Given the description of an element on the screen output the (x, y) to click on. 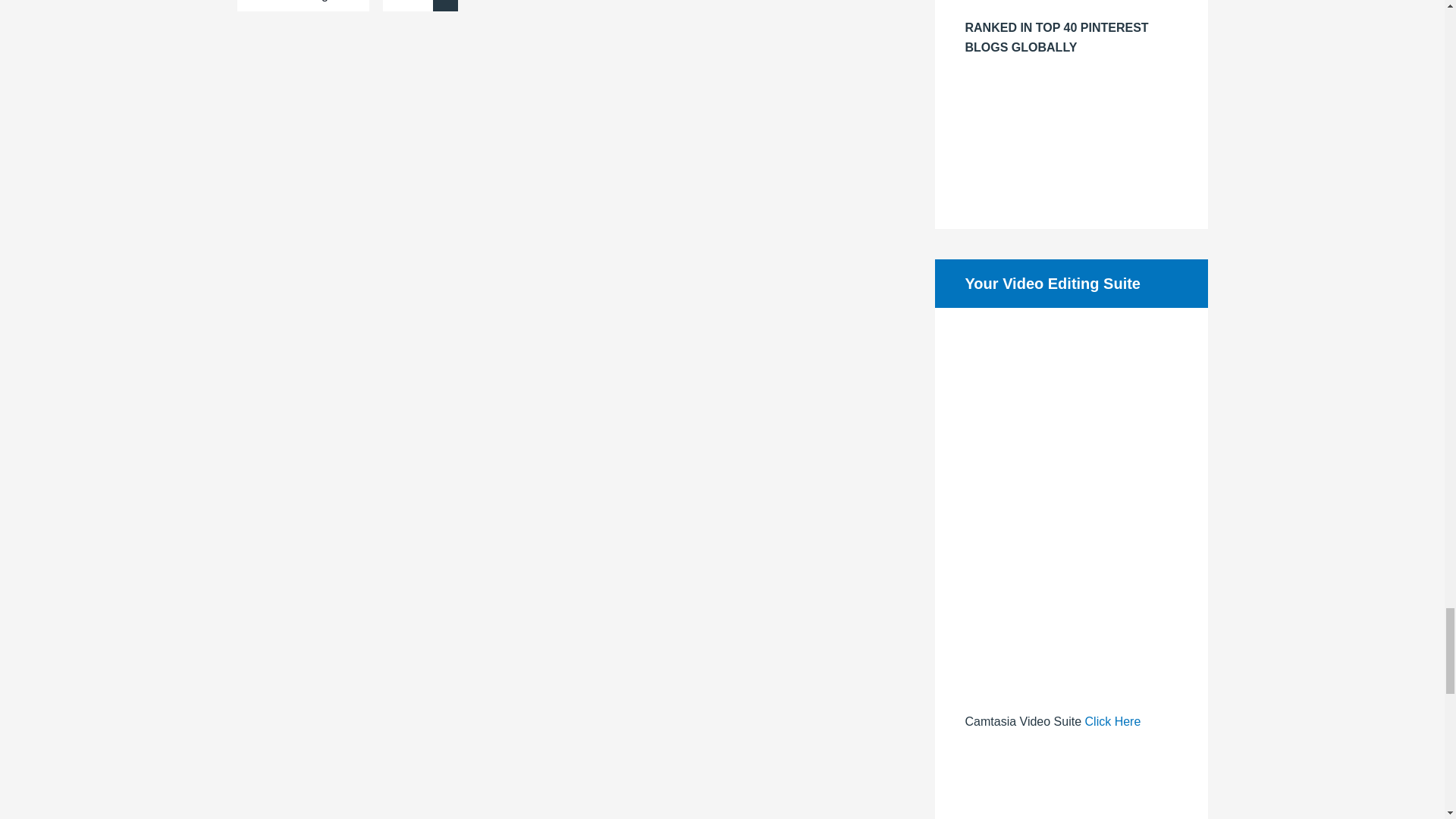
Pinterest blogs (1069, 187)
The Blogger's Pit Stop (1069, 7)
